Given the description of an element on the screen output the (x, y) to click on. 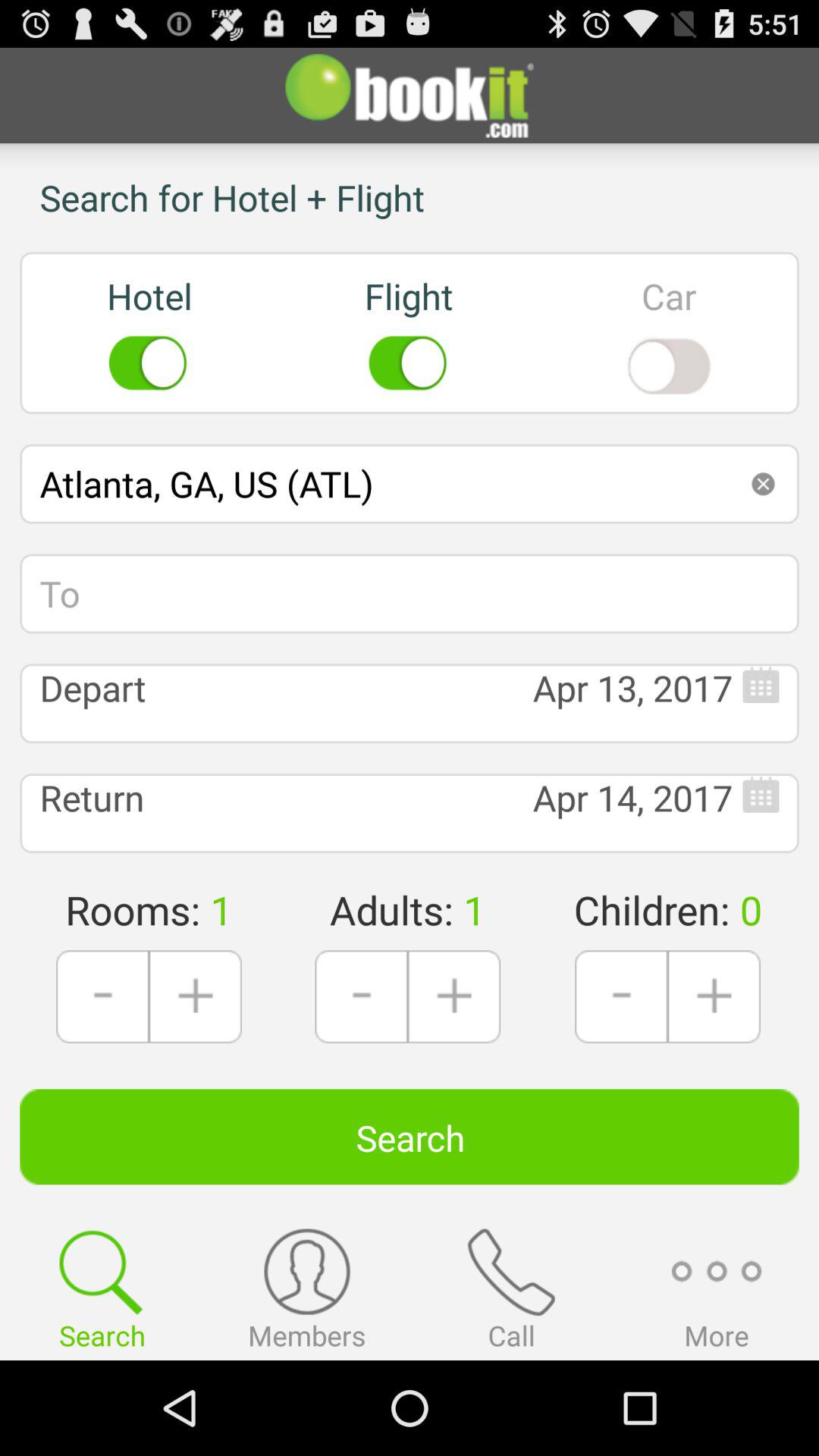
open the icon above depart icon (409, 593)
